Given the description of an element on the screen output the (x, y) to click on. 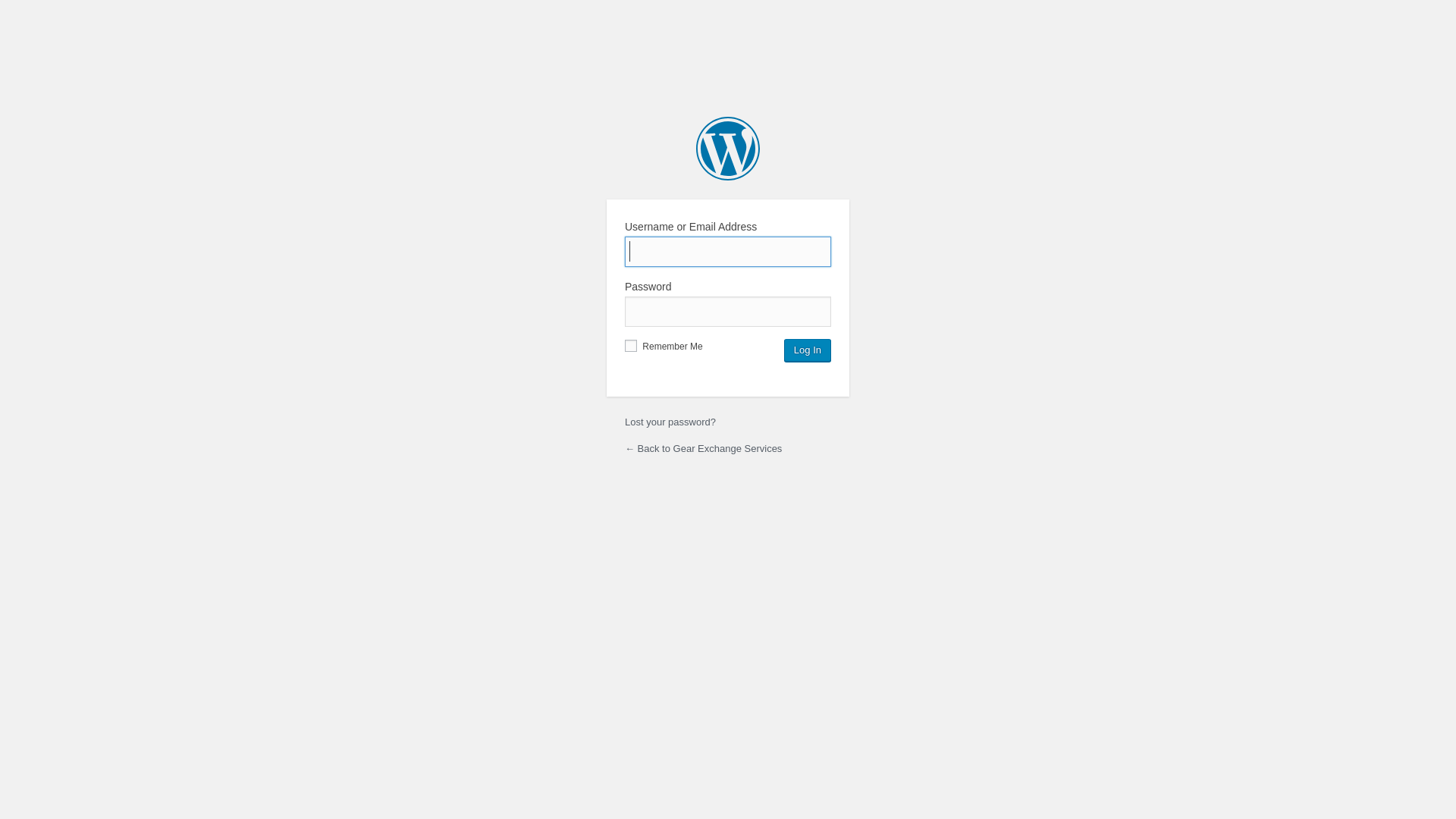
Powered by WordPress Element type: text (727, 148)
Lost your password? Element type: text (669, 421)
Log In Element type: text (807, 349)
